Given the description of an element on the screen output the (x, y) to click on. 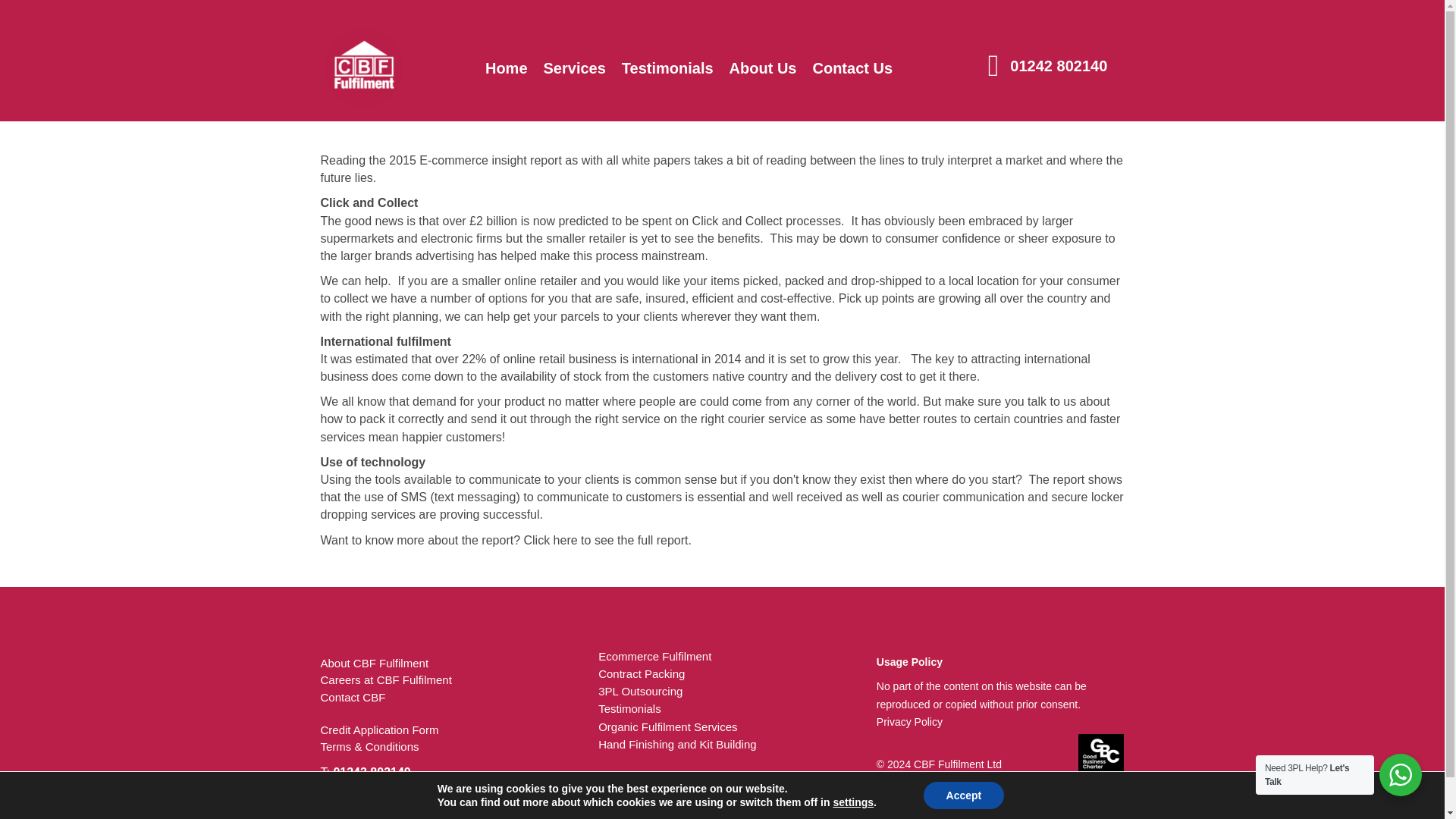
Services (573, 45)
About Us (763, 60)
Credit Application Form (379, 729)
cropped-CBF-Fulfilment-Logo.png (363, 68)
here (565, 540)
01242 802140 (1057, 65)
Contact Us (852, 63)
About CBF Fulfilment (374, 662)
Contact CBF (352, 697)
Careers at CBF Fulfilment (385, 679)
